Given the description of an element on the screen output the (x, y) to click on. 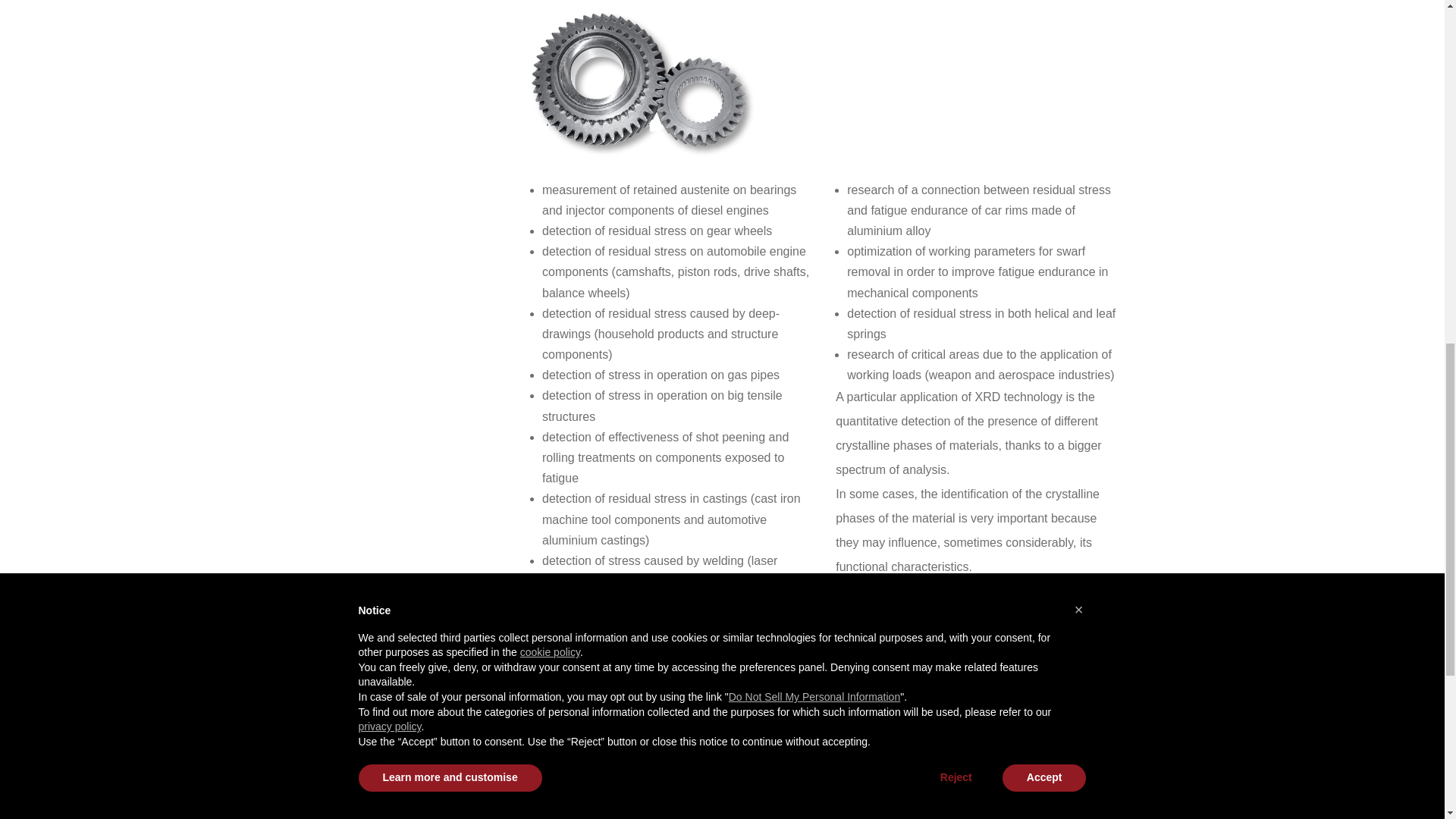
Diffrazione dei Raggi X (417, 767)
Tecnica di diffrazione dei Raggi X (823, 767)
Servizio di Diffrazione dei Raggi X (1026, 767)
Individuazione dell'austenite residua (621, 767)
